Given the description of an element on the screen output the (x, y) to click on. 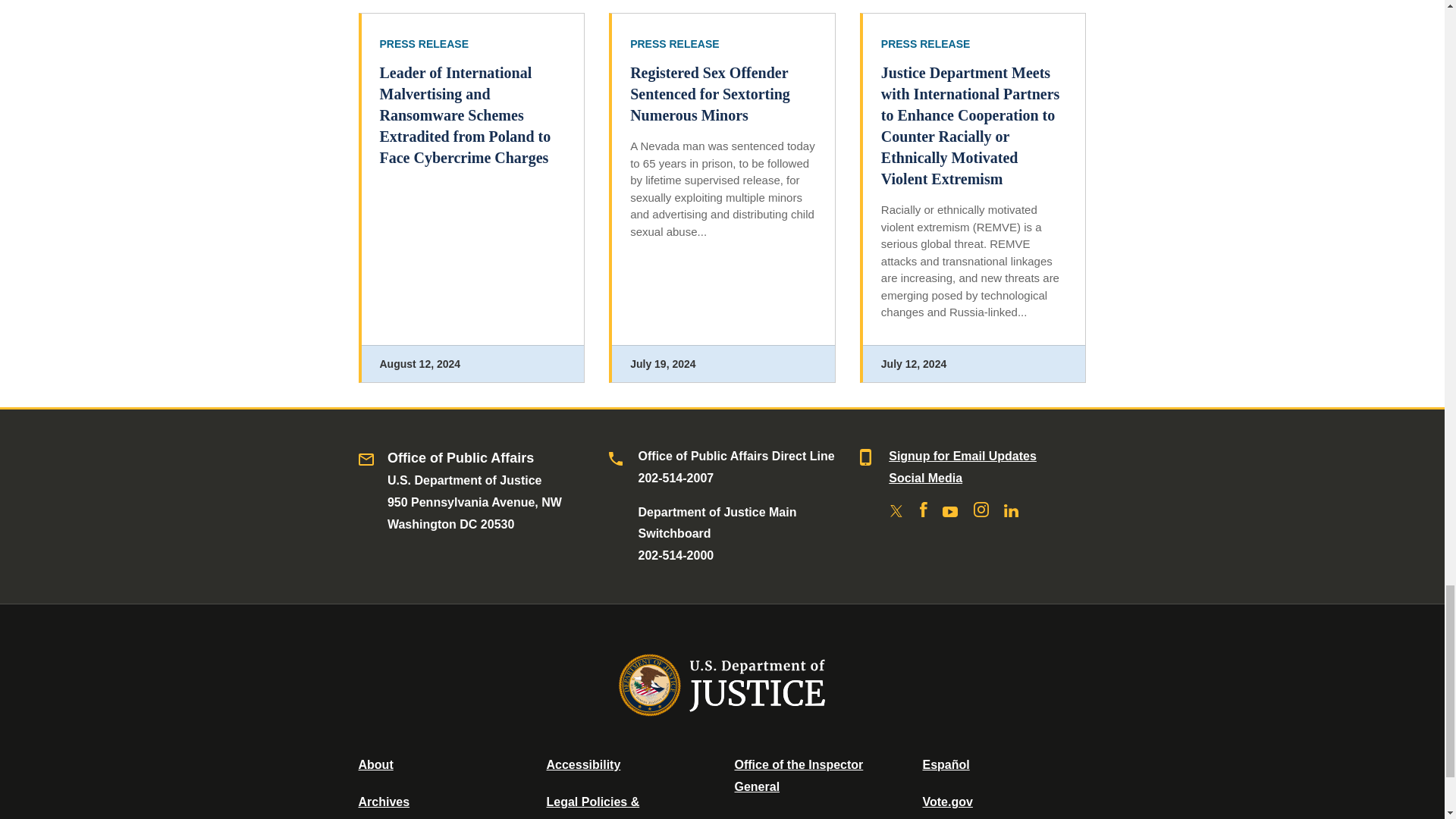
Data Posted Pursuant To The No Fear Act (785, 818)
Legal Policies and Disclaimers (592, 807)
Accessibility Statement (583, 764)
About DOJ (375, 764)
Department of Justice Archive (383, 801)
